Given the description of an element on the screen output the (x, y) to click on. 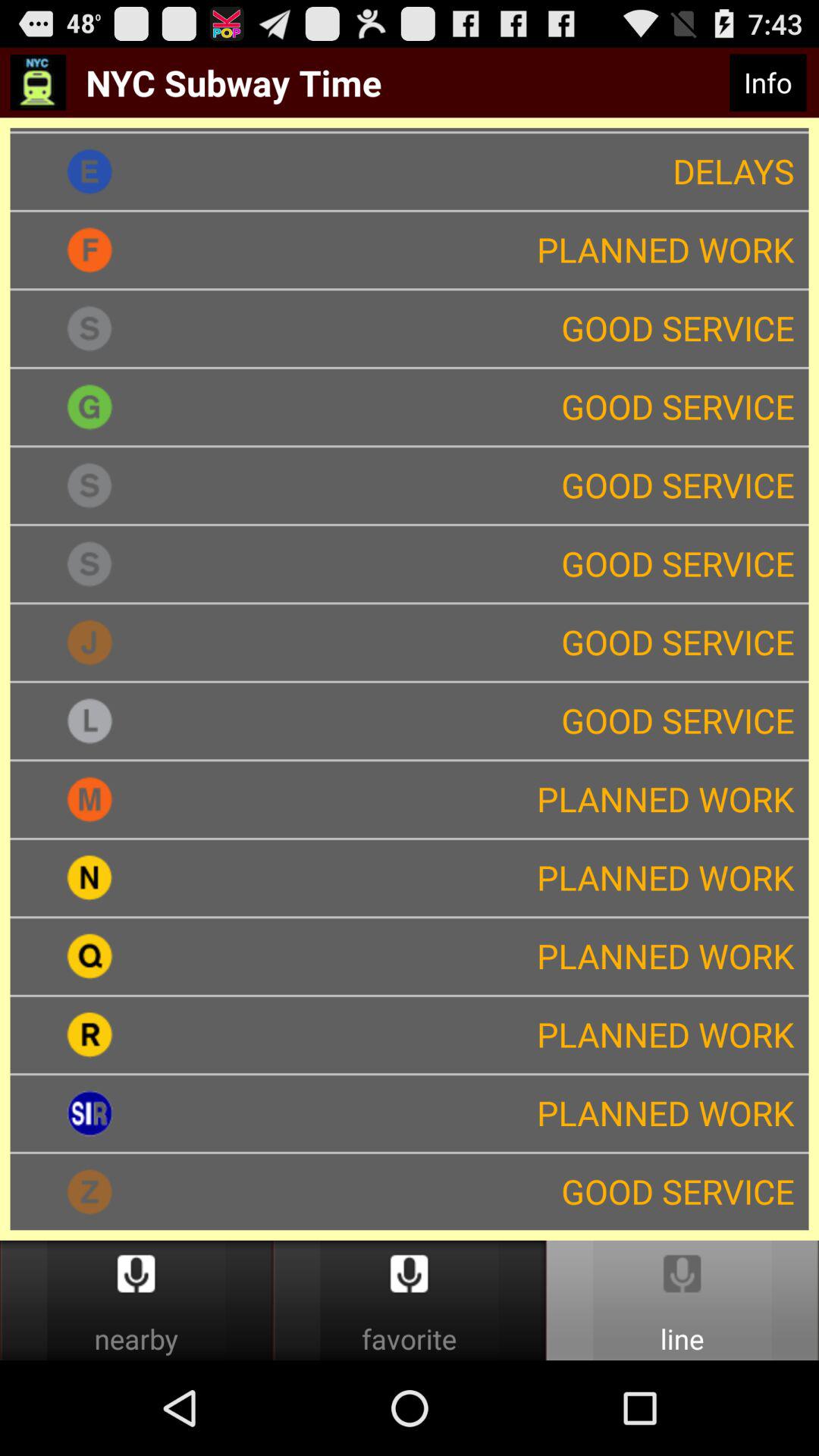
launch delays icon (488, 170)
